Given the description of an element on the screen output the (x, y) to click on. 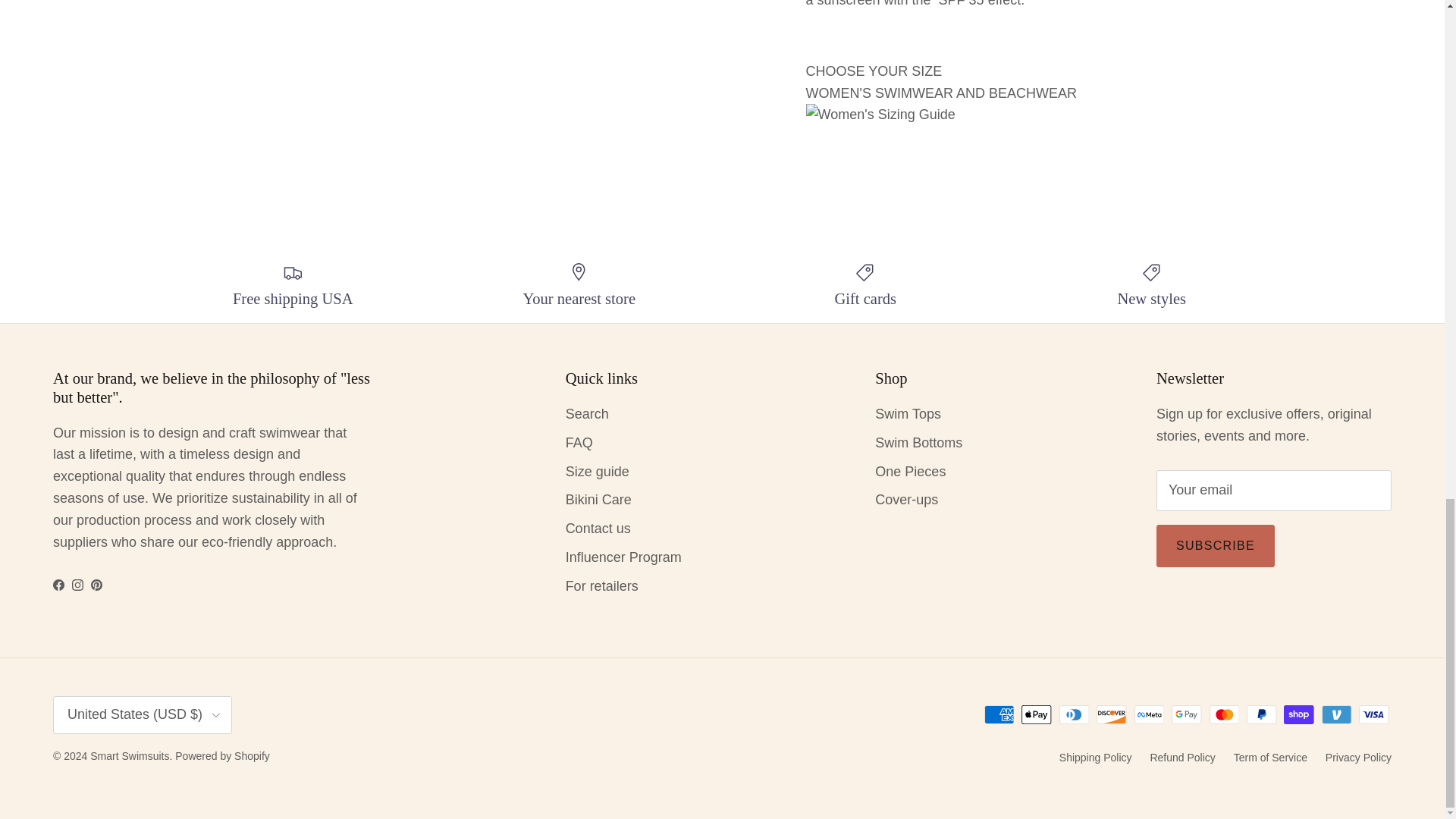
Smart Swimsuits on Facebook (58, 584)
Smart Swimsuits on Instagram (76, 584)
Smart Swimsuits on Pinterest (95, 584)
